Given the description of an element on the screen output the (x, y) to click on. 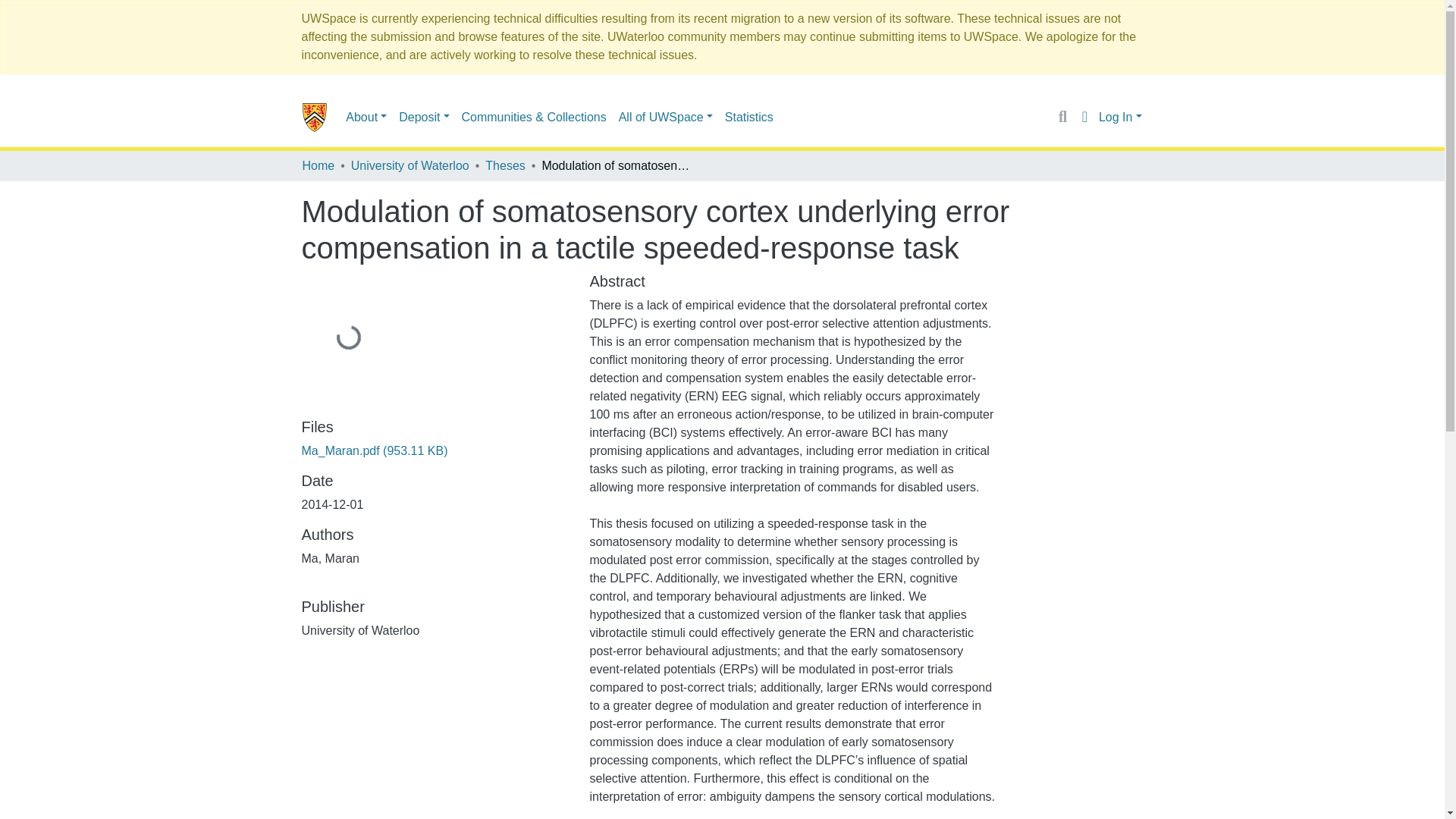
University of Waterloo (409, 166)
Log In (1119, 116)
Statistics (748, 116)
Home (317, 166)
Statistics (748, 116)
Search (1061, 116)
Language switch (1084, 116)
All of UWSpace (665, 116)
Theses (504, 166)
About (366, 116)
